Given the description of an element on the screen output the (x, y) to click on. 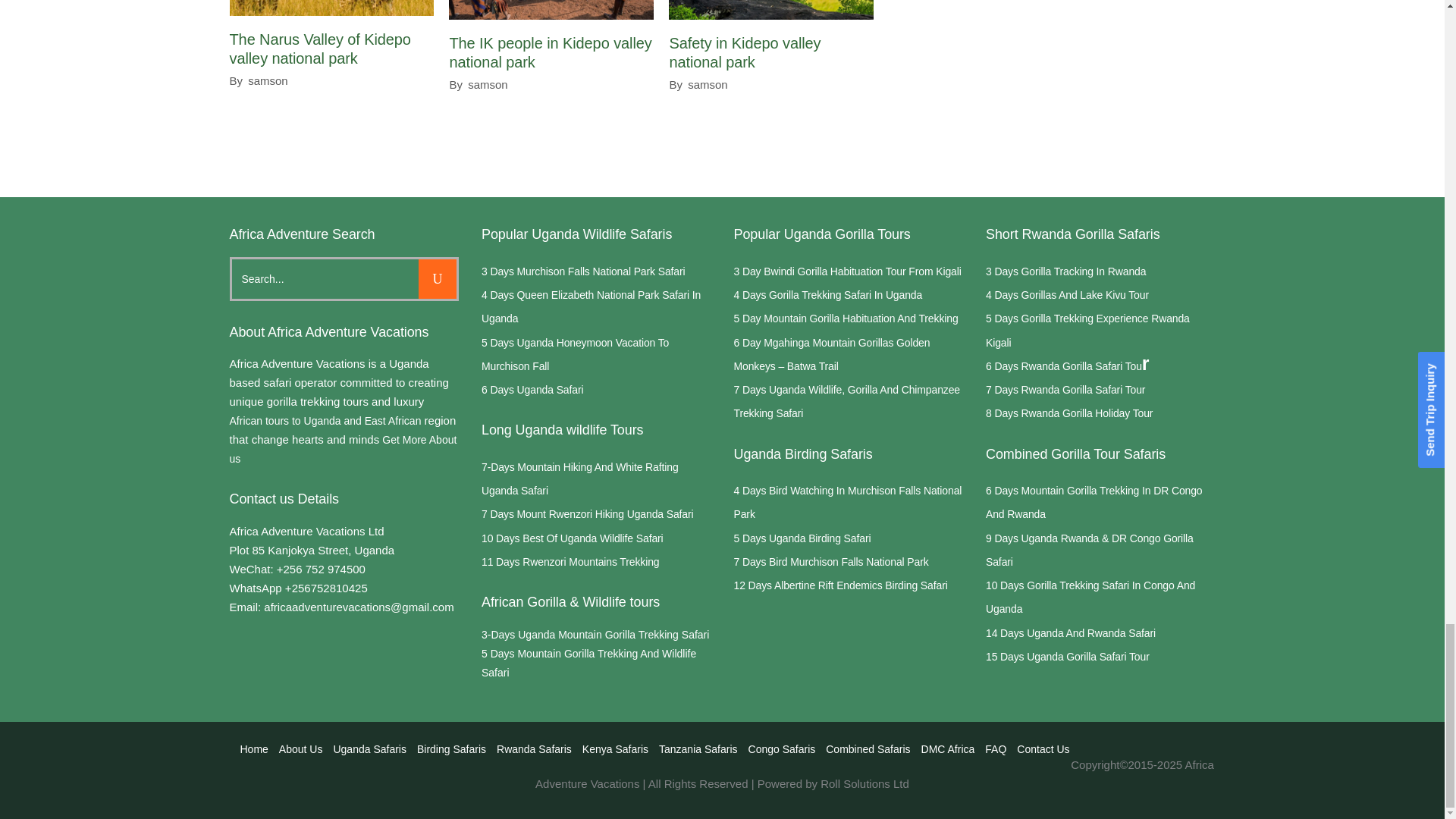
The Narus Valley of Kidepo valley national park (319, 48)
Safety in Kidepo valley national park (744, 52)
Search for: (325, 278)
The IK people in Kidepo valley national park (549, 52)
The Narus Valley of Kidepo valley national park (330, 7)
Safety in Kidepo valley national park (770, 9)
The IK people in Kidepo valley national park (550, 9)
